Given the description of an element on the screen output the (x, y) to click on. 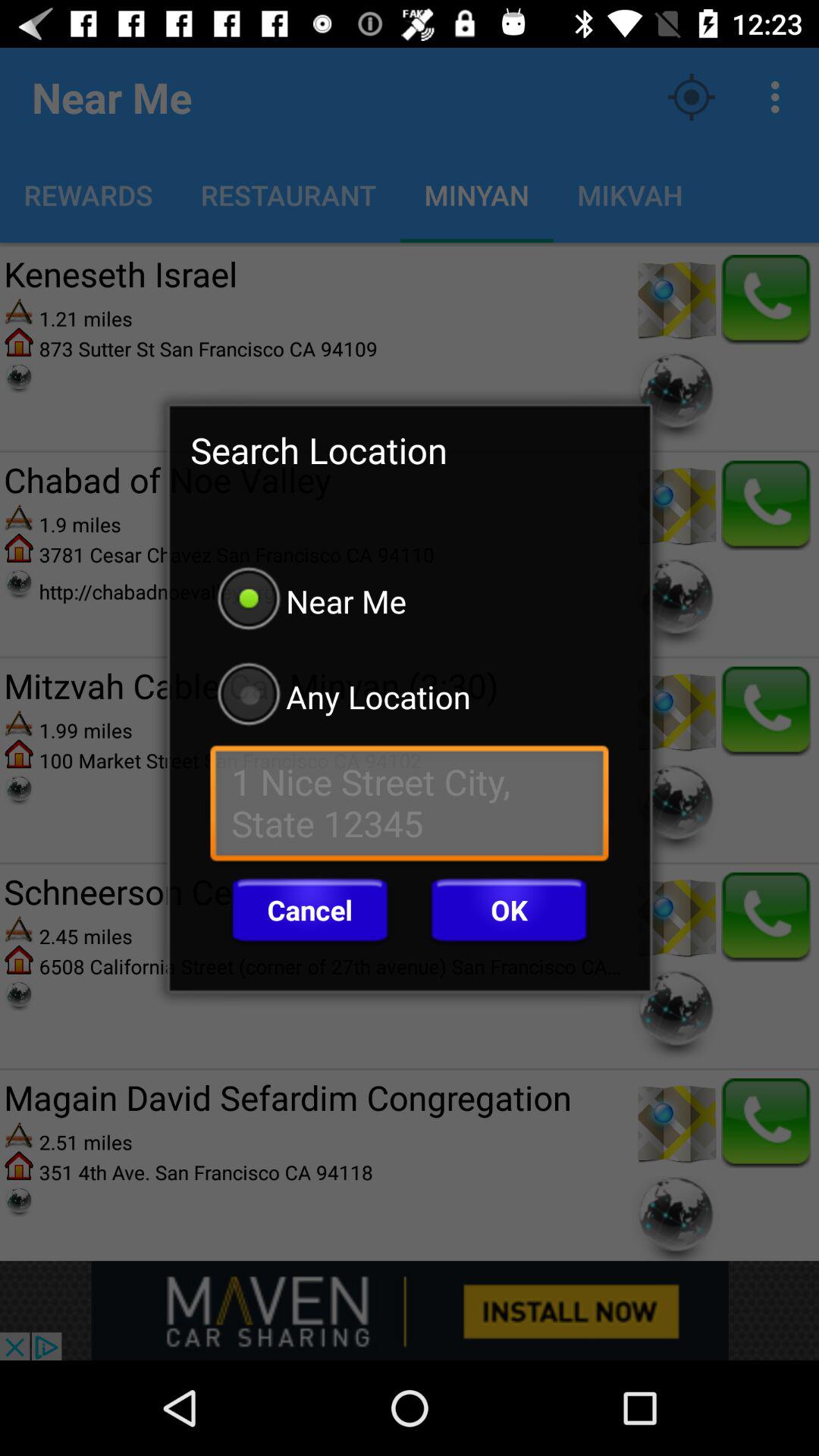
scroll to near me radio button (409, 600)
